Given the description of an element on the screen output the (x, y) to click on. 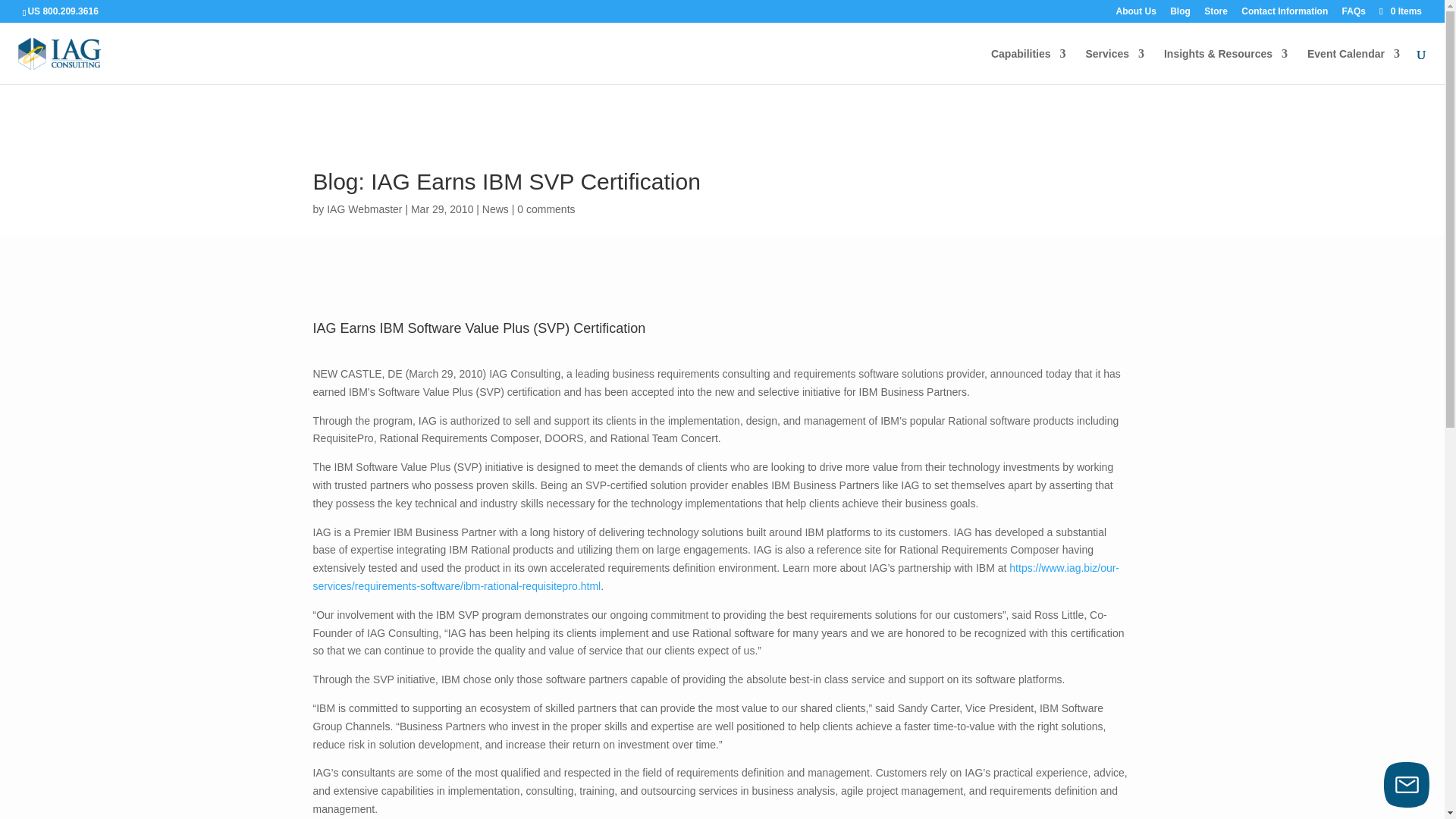
Blog (1180, 14)
Event Calendar (1353, 66)
Services (1114, 66)
FAQs (1353, 14)
About Us (1136, 14)
Store (1215, 14)
Contact Information (1284, 14)
0 Items (1399, 10)
Capabilities (1028, 66)
Posts by IAG Webmaster (363, 209)
